Given the description of an element on the screen output the (x, y) to click on. 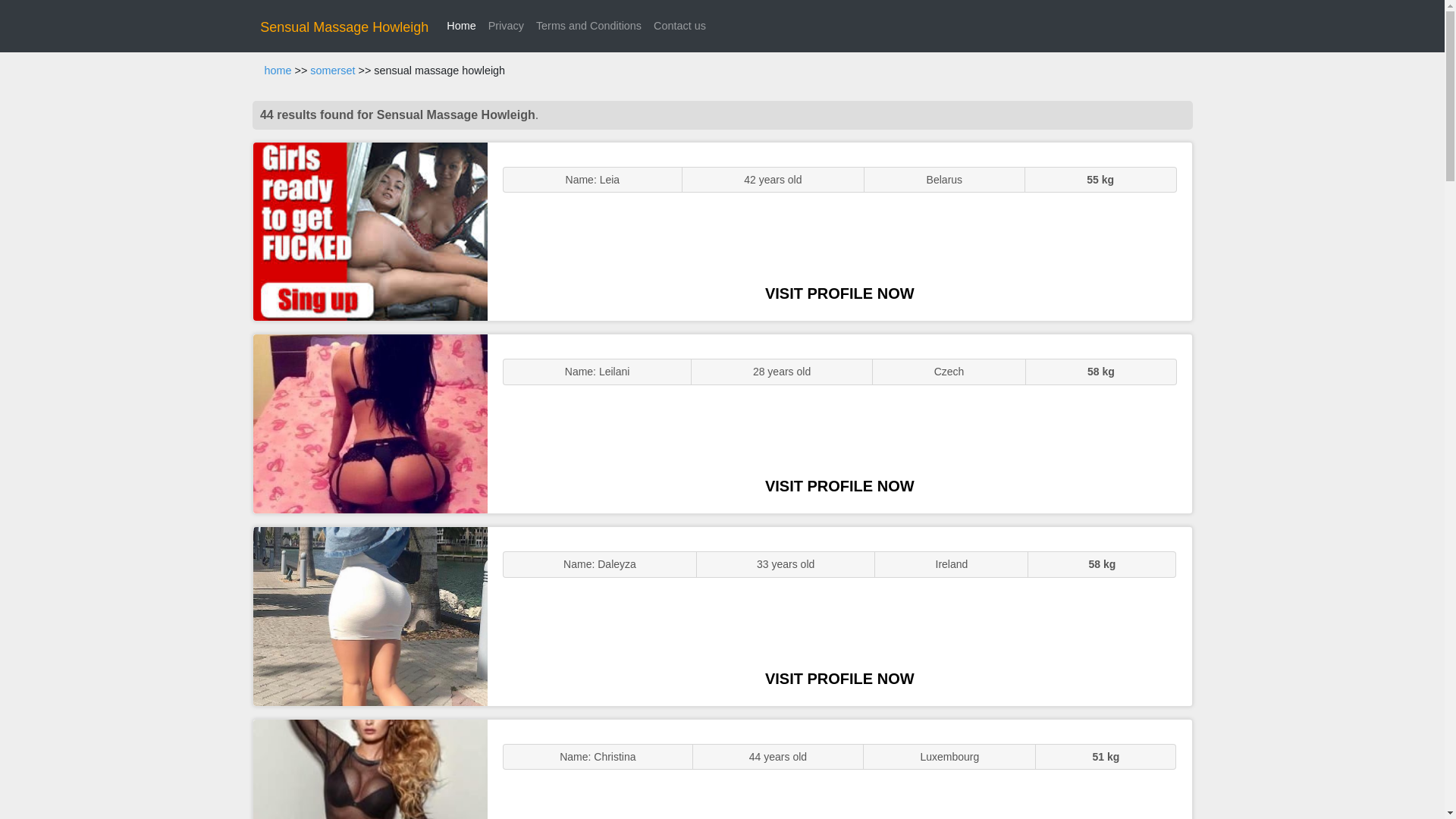
home (277, 70)
Sexy (370, 616)
Sluts (370, 769)
somerset (332, 70)
 ENGLISH STUNNER (370, 231)
Sensual Massage Howleigh (344, 27)
Terms and Conditions (588, 25)
Contact us (679, 25)
VISIT PROFILE NOW (839, 485)
VISIT PROFILE NOW (839, 293)
GFE (370, 423)
VISIT PROFILE NOW (839, 678)
Privacy (505, 25)
